Given the description of an element on the screen output the (x, y) to click on. 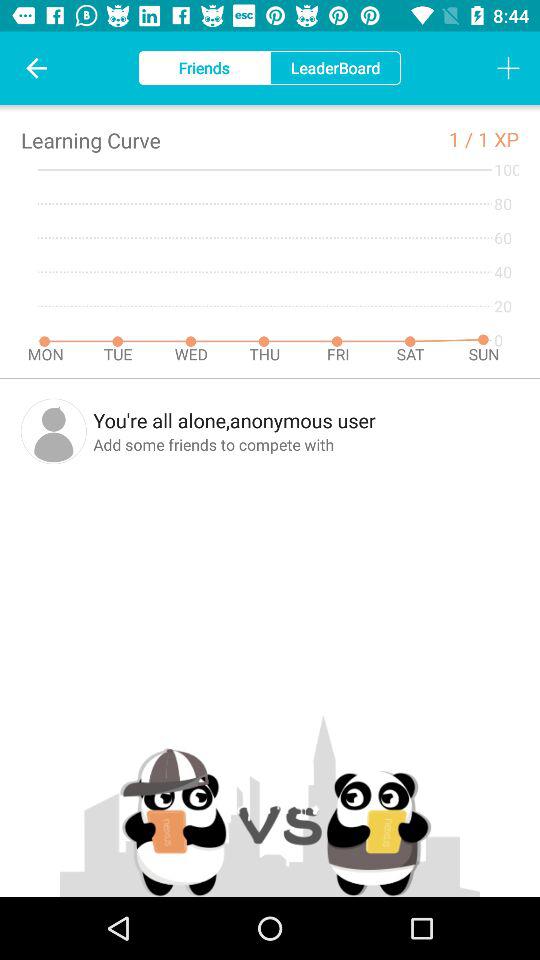
turn on the 1 /  icon (463, 138)
